Given the description of an element on the screen output the (x, y) to click on. 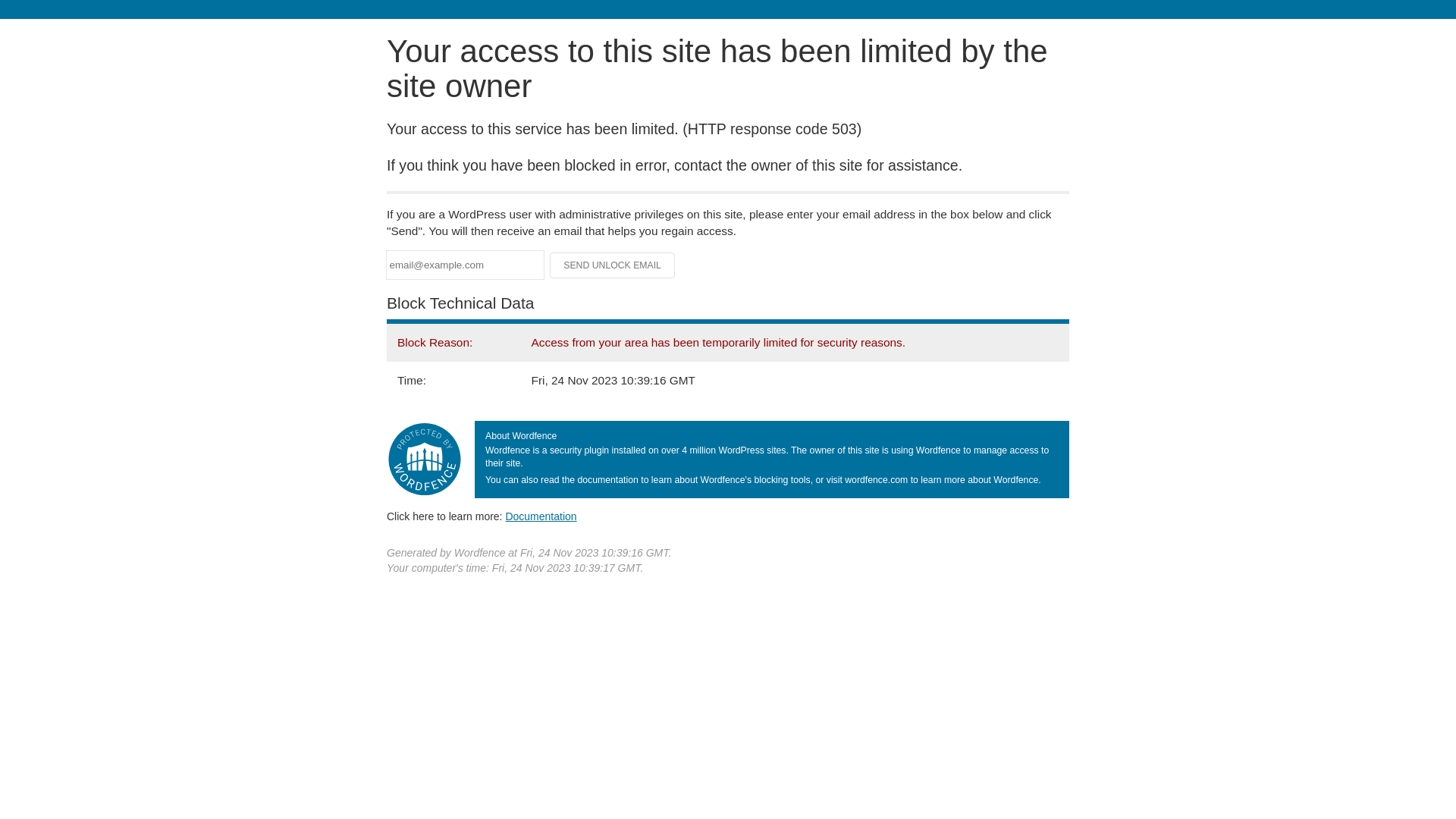
Documentation Element type: text (540, 516)
Send Unlock Email Element type: text (612, 265)
